Given the description of an element on the screen output the (x, y) to click on. 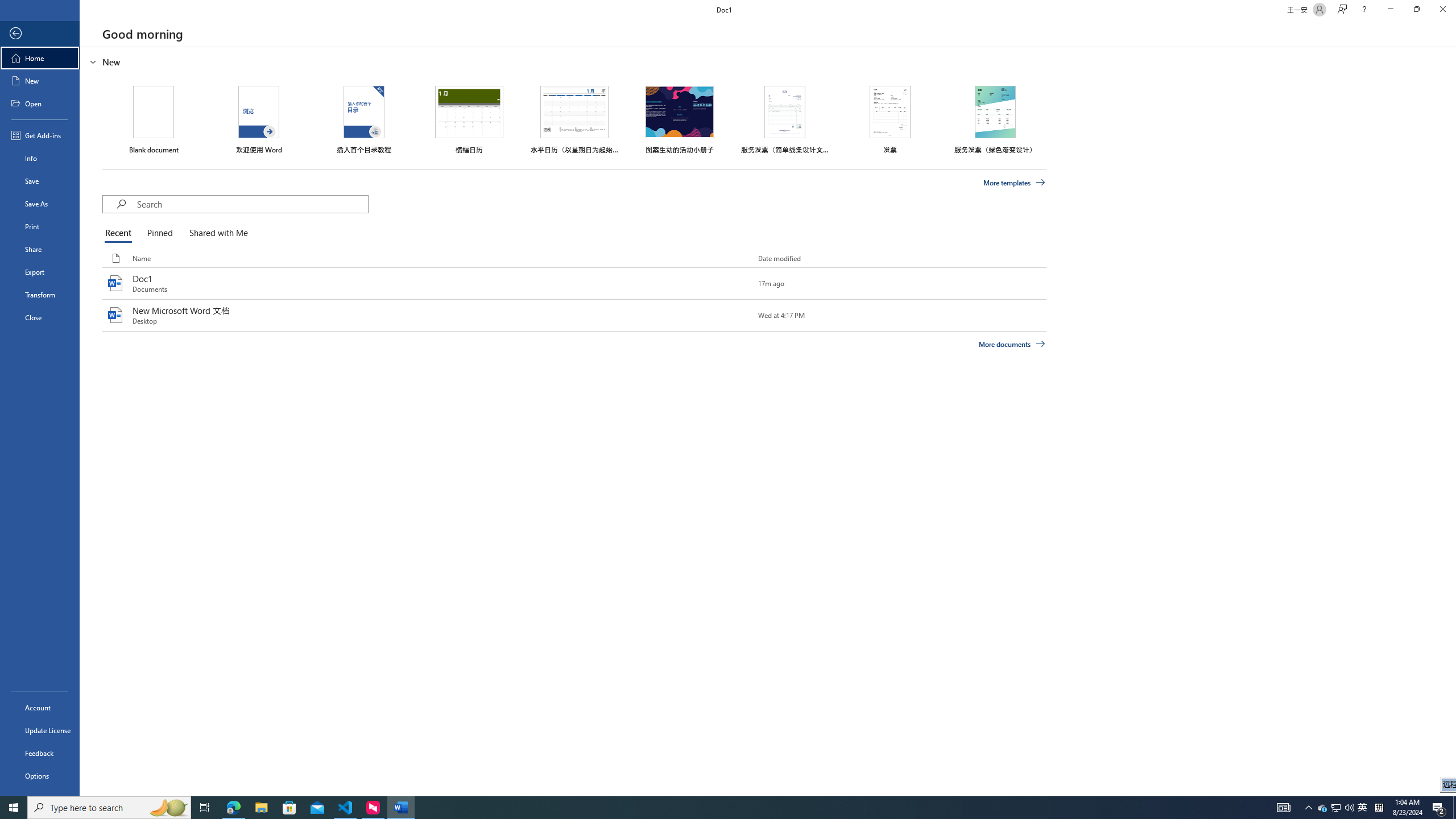
Options (40, 775)
Blank document (153, 119)
Pinned (159, 233)
New (40, 80)
More templates (1014, 182)
Print (40, 225)
Feedback (40, 753)
Get Add-ins (40, 134)
